Given the description of an element on the screen output the (x, y) to click on. 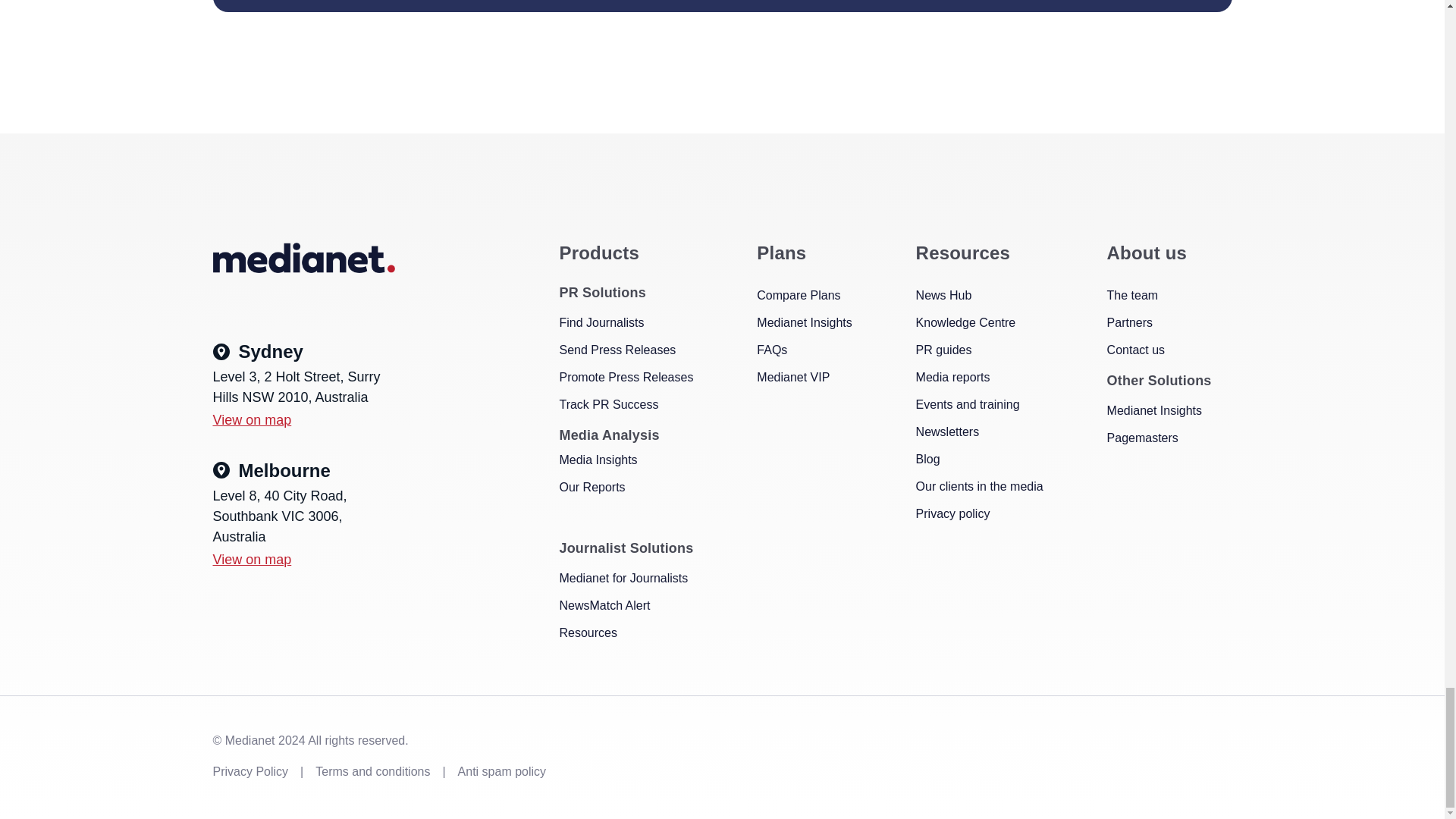
Medianet logo RGB 2020 (303, 257)
Map-Circle-Icon (220, 351)
Map-Circle-Icon (220, 469)
